Given the description of an element on the screen output the (x, y) to click on. 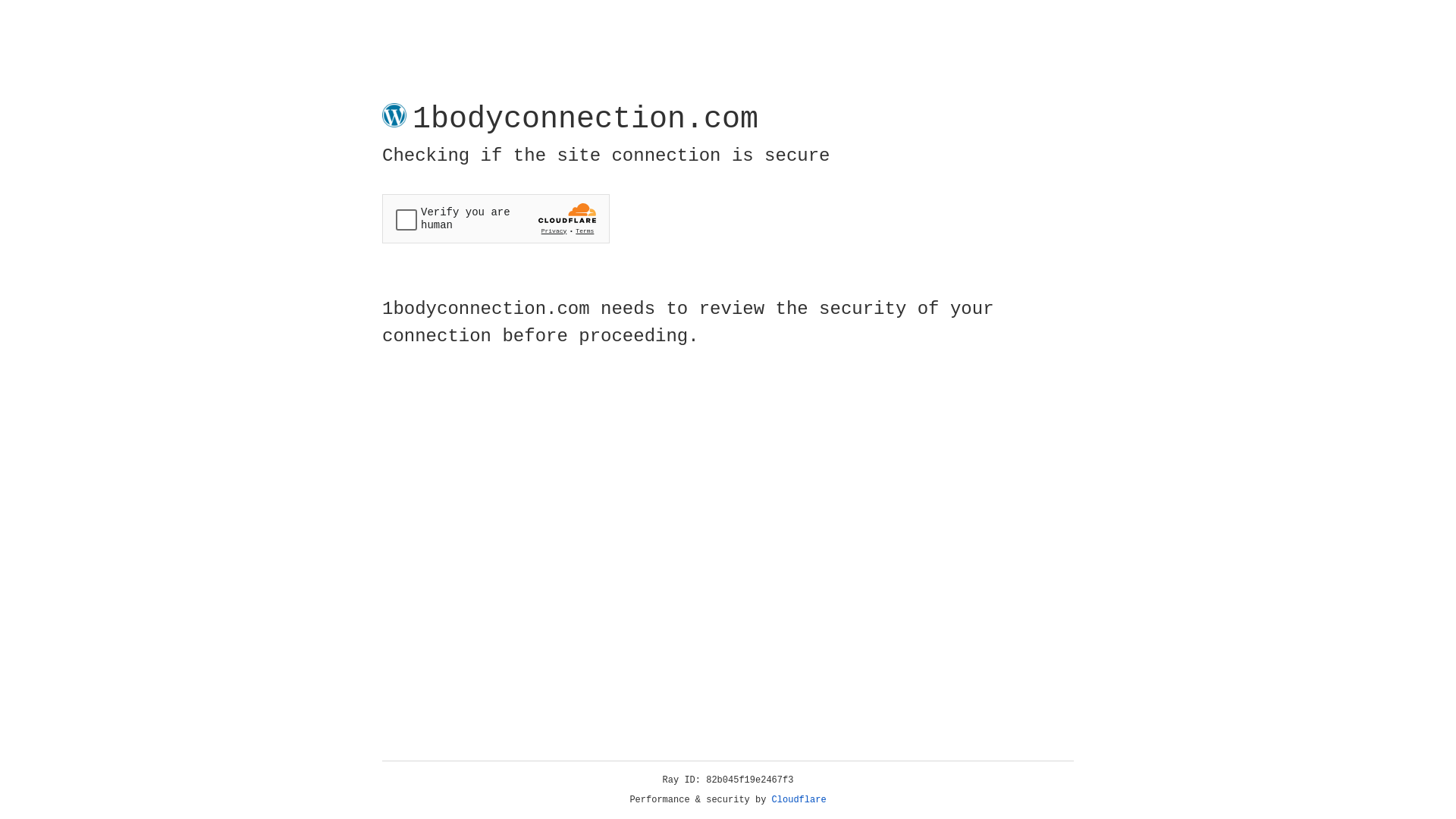
Cloudflare Element type: text (798, 799)
Widget containing a Cloudflare security challenge Element type: hover (495, 218)
